Given the description of an element on the screen output the (x, y) to click on. 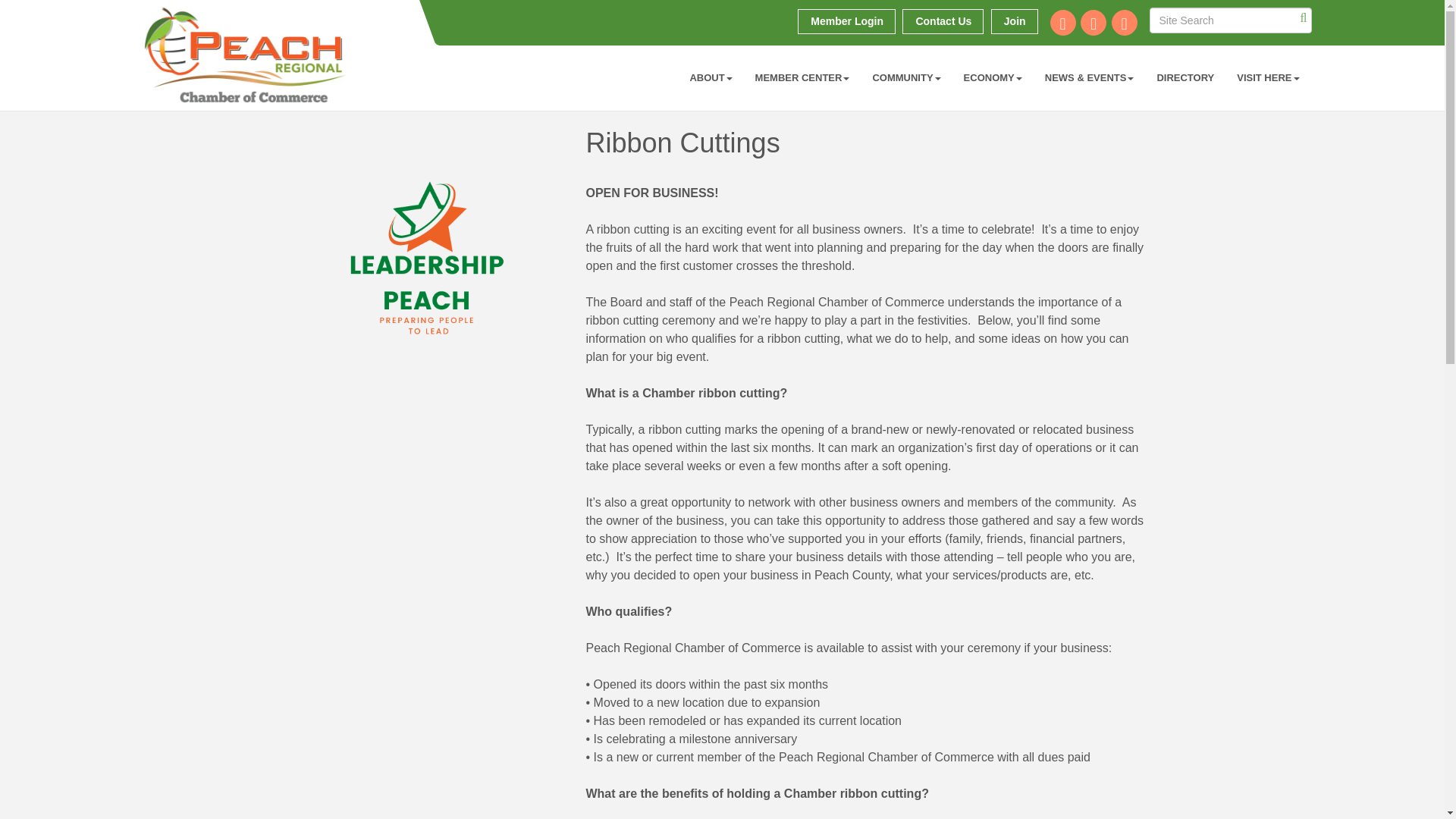
Contact Us (943, 21)
MEMBER CENTER (802, 77)
ABOUT (710, 77)
Member Login (846, 21)
Icon Link (1124, 22)
Join (1014, 21)
COMMUNITY (906, 77)
Icon Link (1062, 22)
Icon Link (1093, 22)
